Given the description of an element on the screen output the (x, y) to click on. 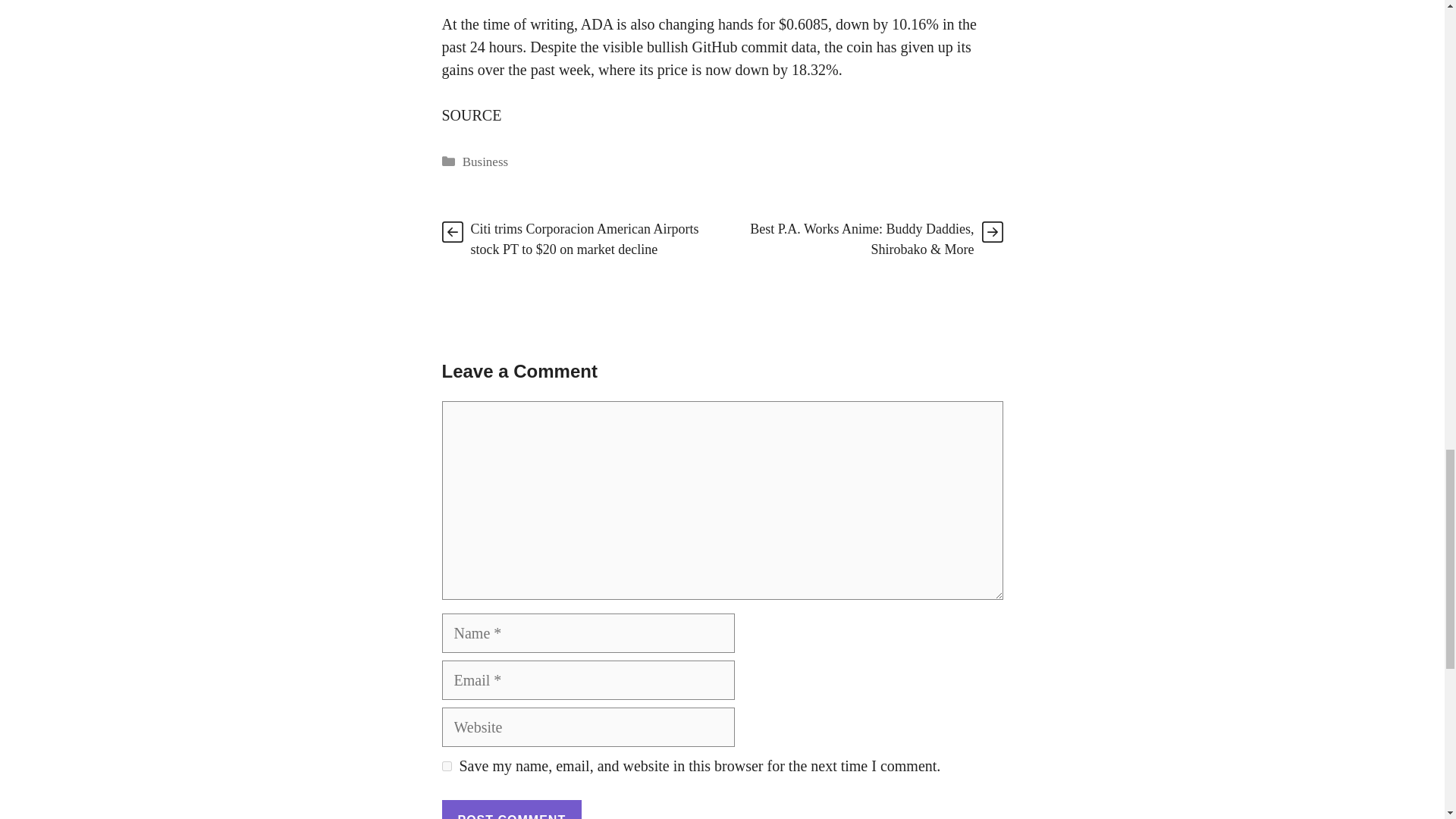
SOURCE (470, 115)
yes (446, 766)
Post Comment (510, 809)
Post Comment (510, 809)
Business (485, 161)
